Given the description of an element on the screen output the (x, y) to click on. 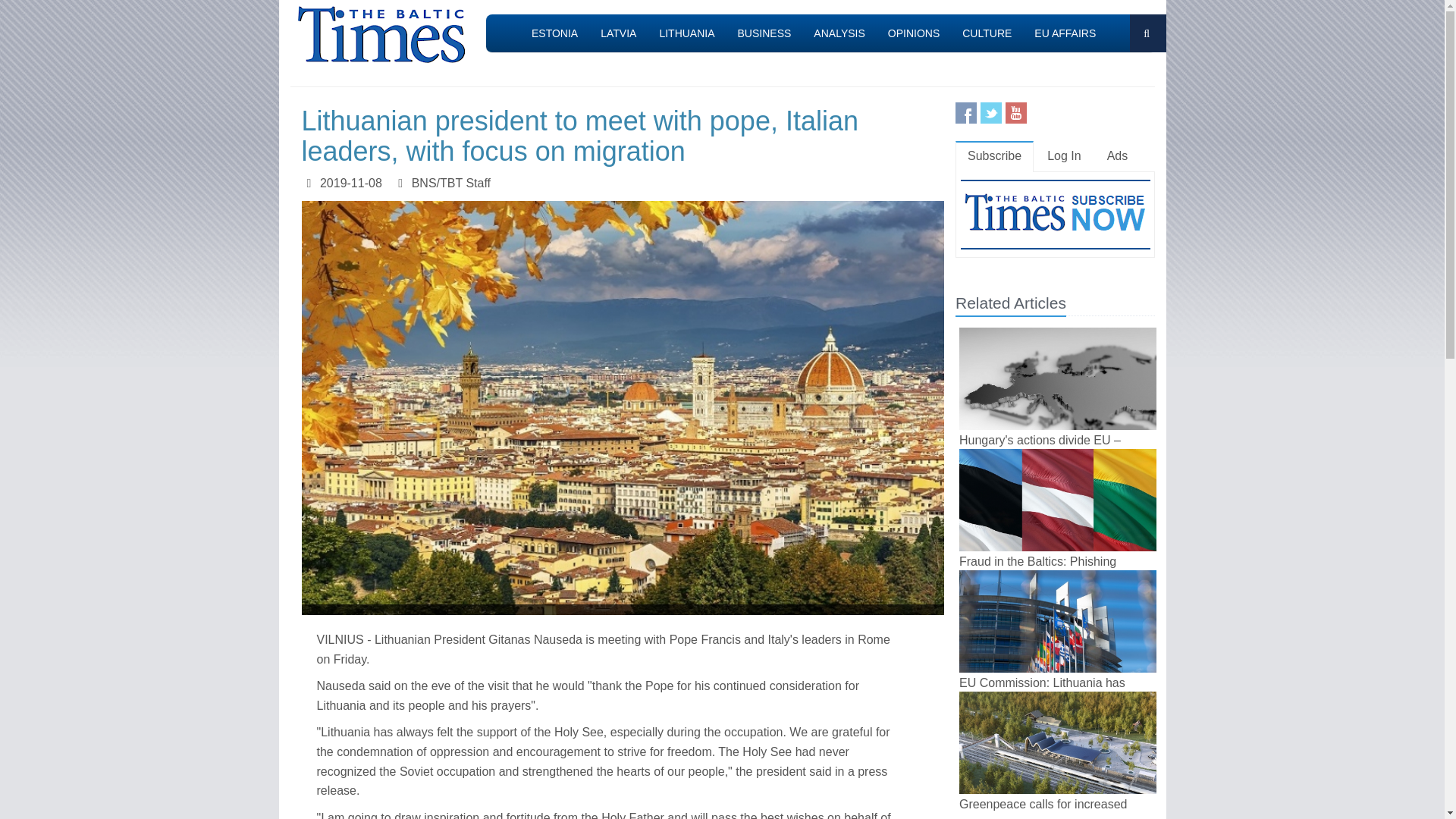
Subscribe (994, 155)
BUSINESS (764, 33)
ANALYSIS (839, 33)
LATVIA (618, 33)
ESTONIA (554, 33)
CULTURE (986, 33)
OPINIONS (913, 33)
LITHUANIA (686, 33)
